Given the description of an element on the screen output the (x, y) to click on. 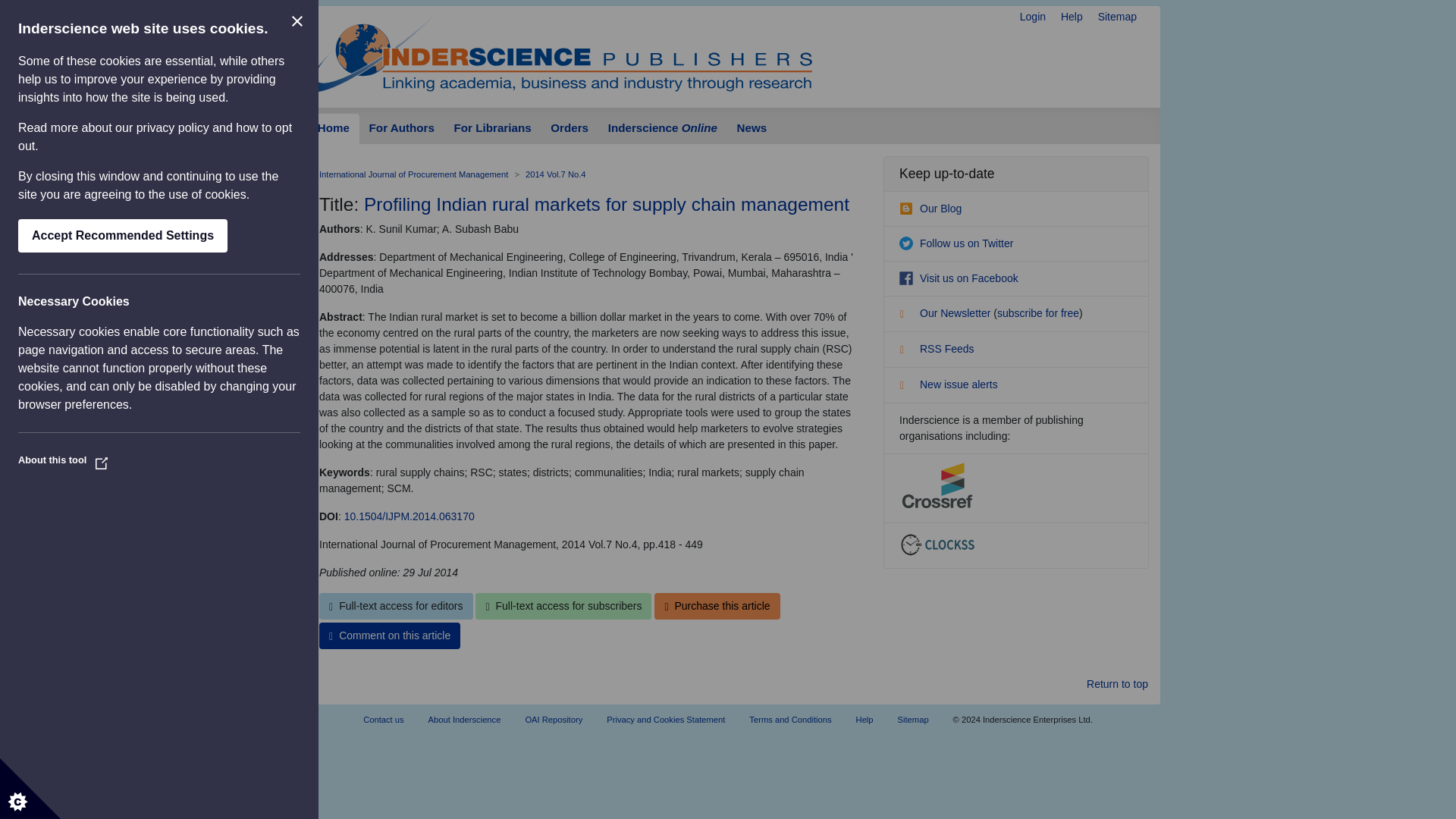
Return to top (1117, 684)
Inderscience Publishers - return to the homepage (559, 50)
Visit us on Facebook (958, 277)
privacy policy (172, 127)
Profiling Indian rural markets for supply chain management (606, 204)
2014 Vol.7 No.4 (555, 174)
Help (1072, 16)
Read our privacy policy (172, 127)
International Journal of Procurement Management (413, 174)
Our Newsletter (945, 313)
